Given the description of an element on the screen output the (x, y) to click on. 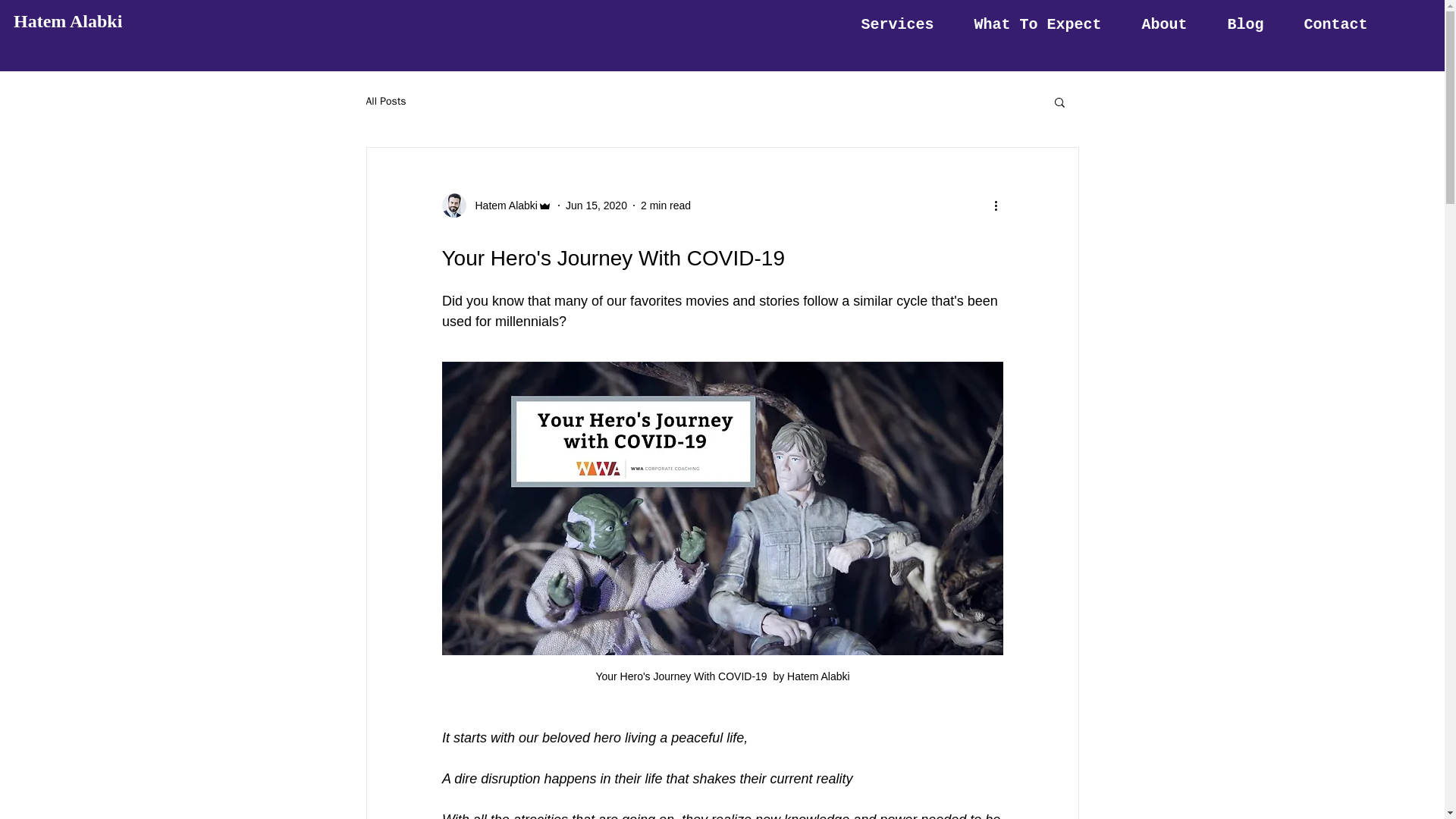
Hatem Alabki (496, 205)
Services (897, 24)
Blog (1245, 24)
2 min read (665, 204)
All Posts (385, 101)
Contact (1335, 24)
Hatem Alabki (501, 204)
What To Expect (1037, 24)
Hatem Alabki (67, 21)
About (1164, 24)
Jun 15, 2020 (596, 204)
